Given the description of an element on the screen output the (x, y) to click on. 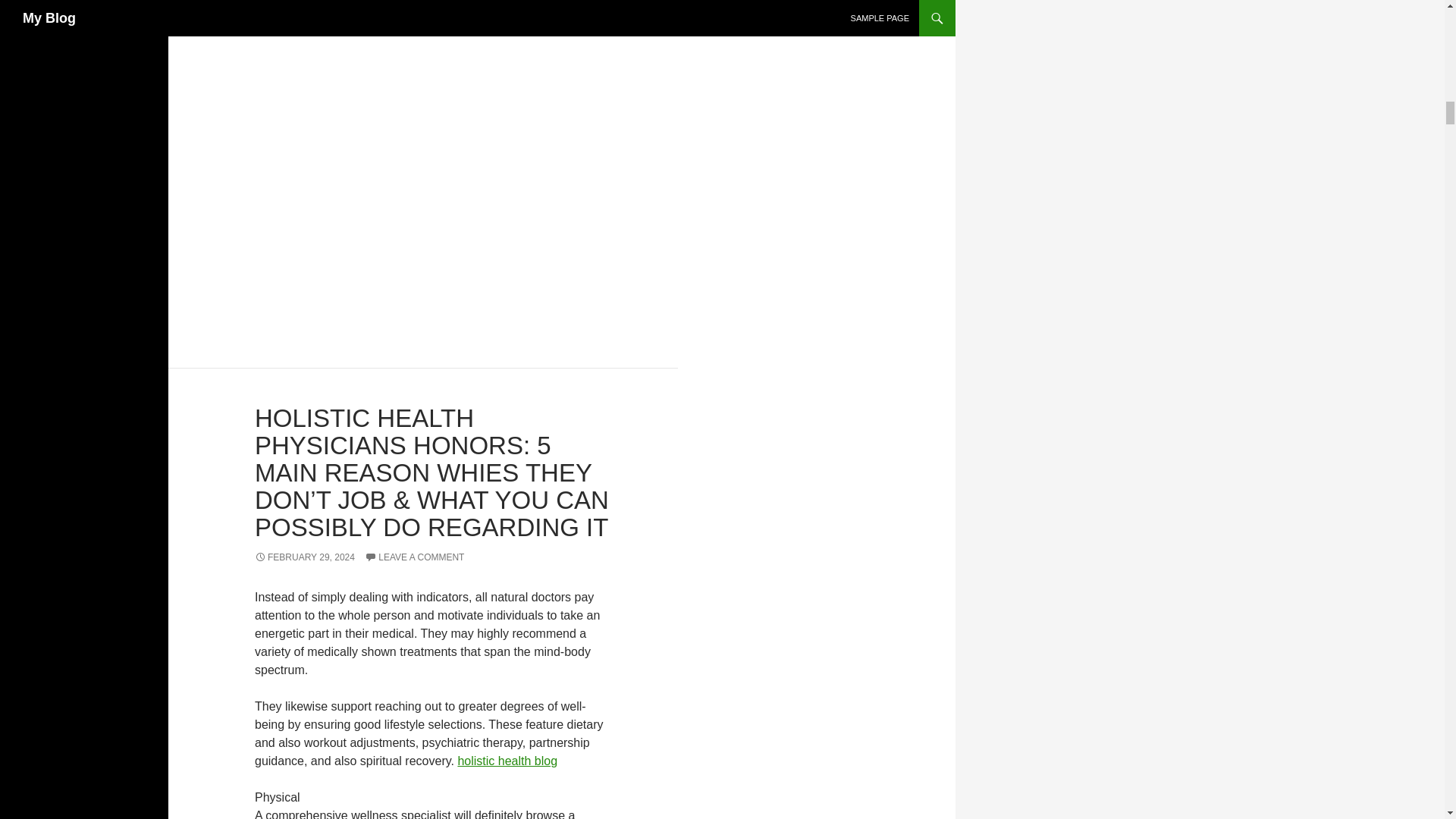
holistic health blog (507, 760)
LEAVE A COMMENT (414, 557)
FEBRUARY 29, 2024 (304, 557)
